Given the description of an element on the screen output the (x, y) to click on. 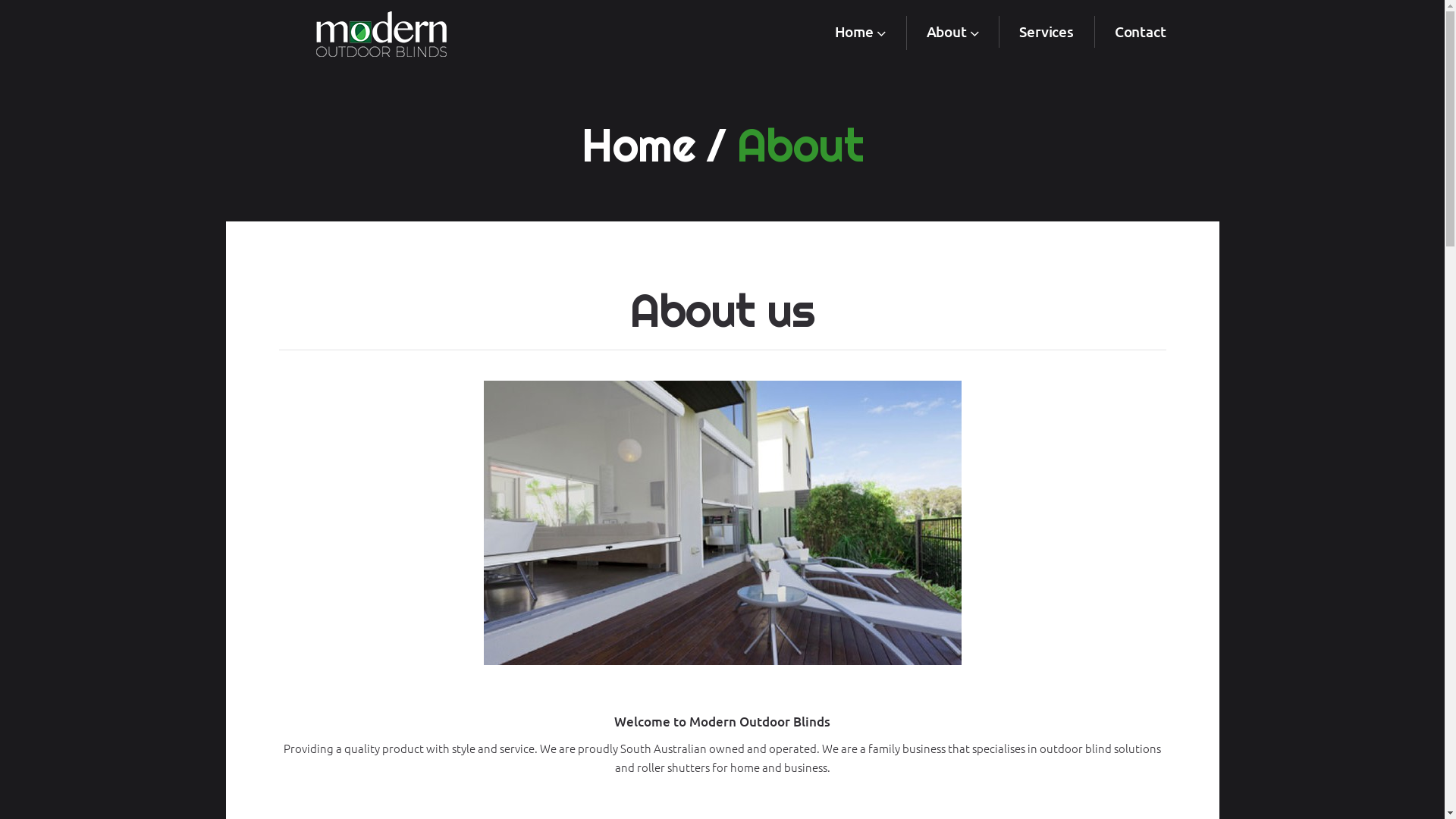
Services Element type: text (1046, 31)
Home Element type: text (638, 144)
Contact Element type: text (1140, 31)
Home Element type: text (859, 32)
About Element type: text (952, 32)
